Given the description of an element on the screen output the (x, y) to click on. 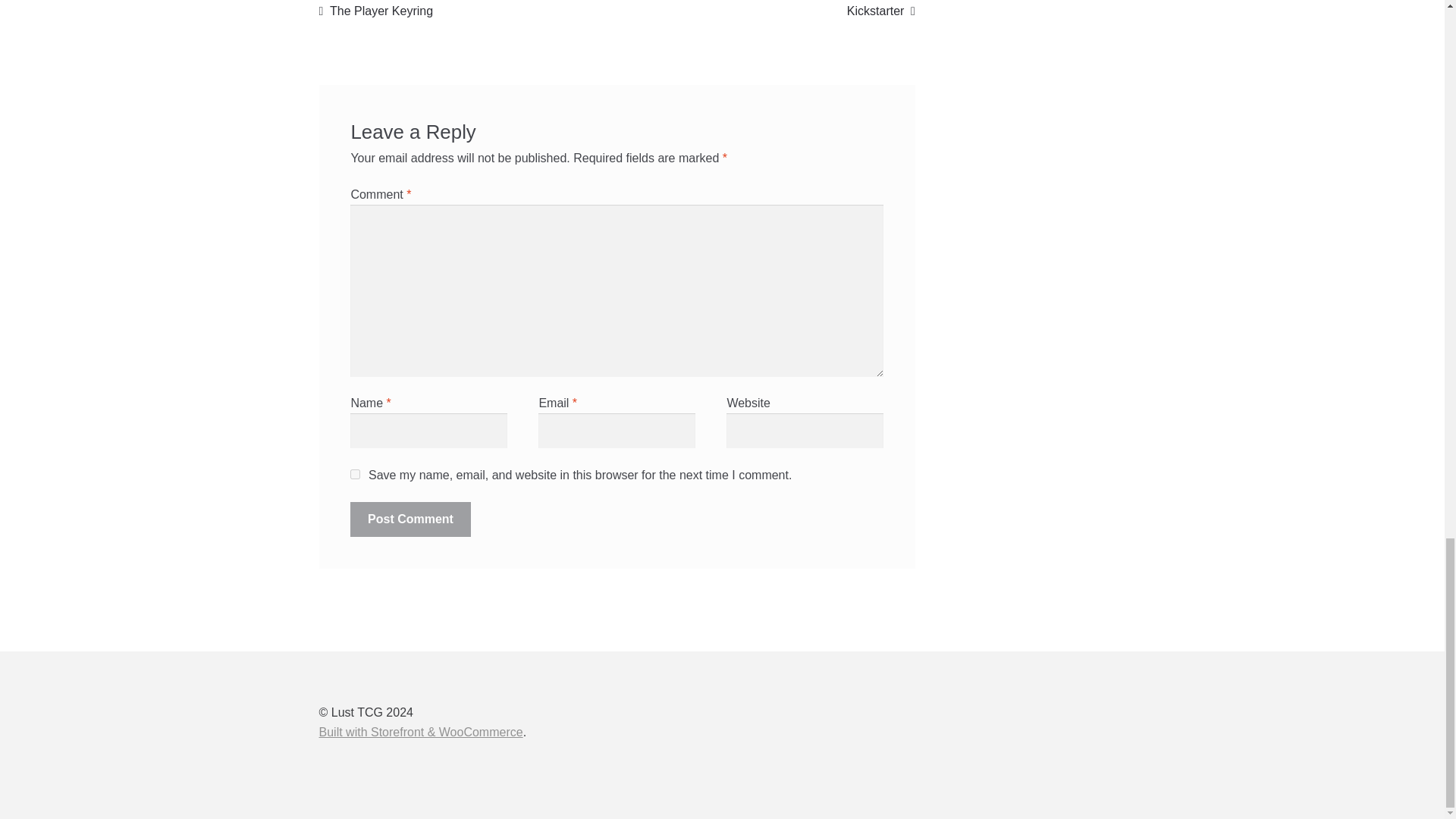
WooCommerce - The Best eCommerce Platform for WordPress (420, 731)
yes (881, 11)
Post Comment (375, 11)
Post Comment (354, 474)
